Given the description of an element on the screen output the (x, y) to click on. 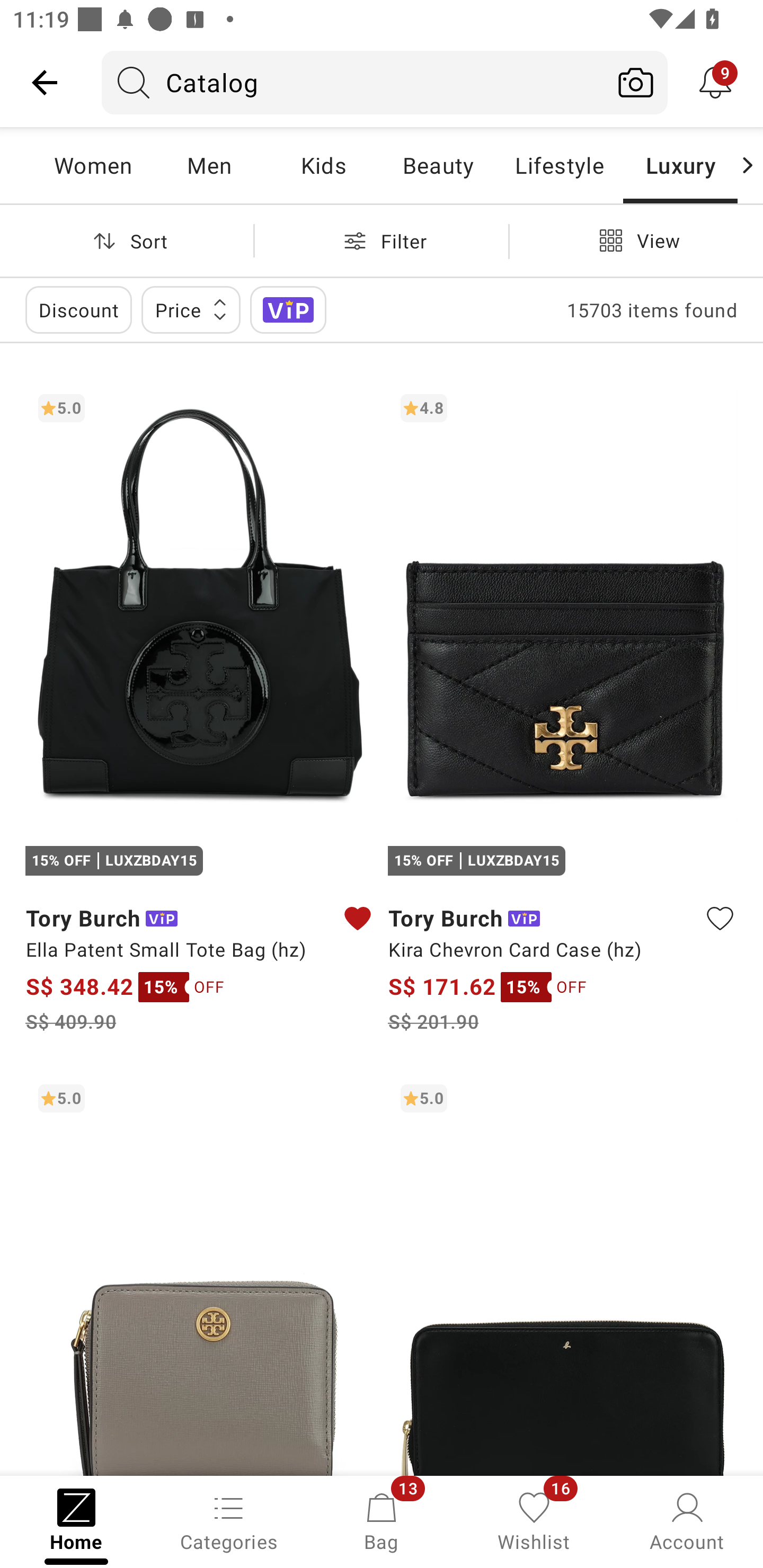
Navigate up (44, 82)
Catalog (352, 82)
Women (92, 165)
Men (208, 165)
Kids (323, 165)
Beauty (437, 165)
Lifestyle (559, 165)
Sort (126, 240)
Filter (381, 240)
View (636, 240)
Discount (78, 309)
Price (190, 309)
5.0 (200, 1272)
5.0 (562, 1272)
Categories (228, 1519)
Bag, 13 new notifications Bag (381, 1519)
Wishlist, 16 new notifications Wishlist (533, 1519)
Account (686, 1519)
